Given the description of an element on the screen output the (x, y) to click on. 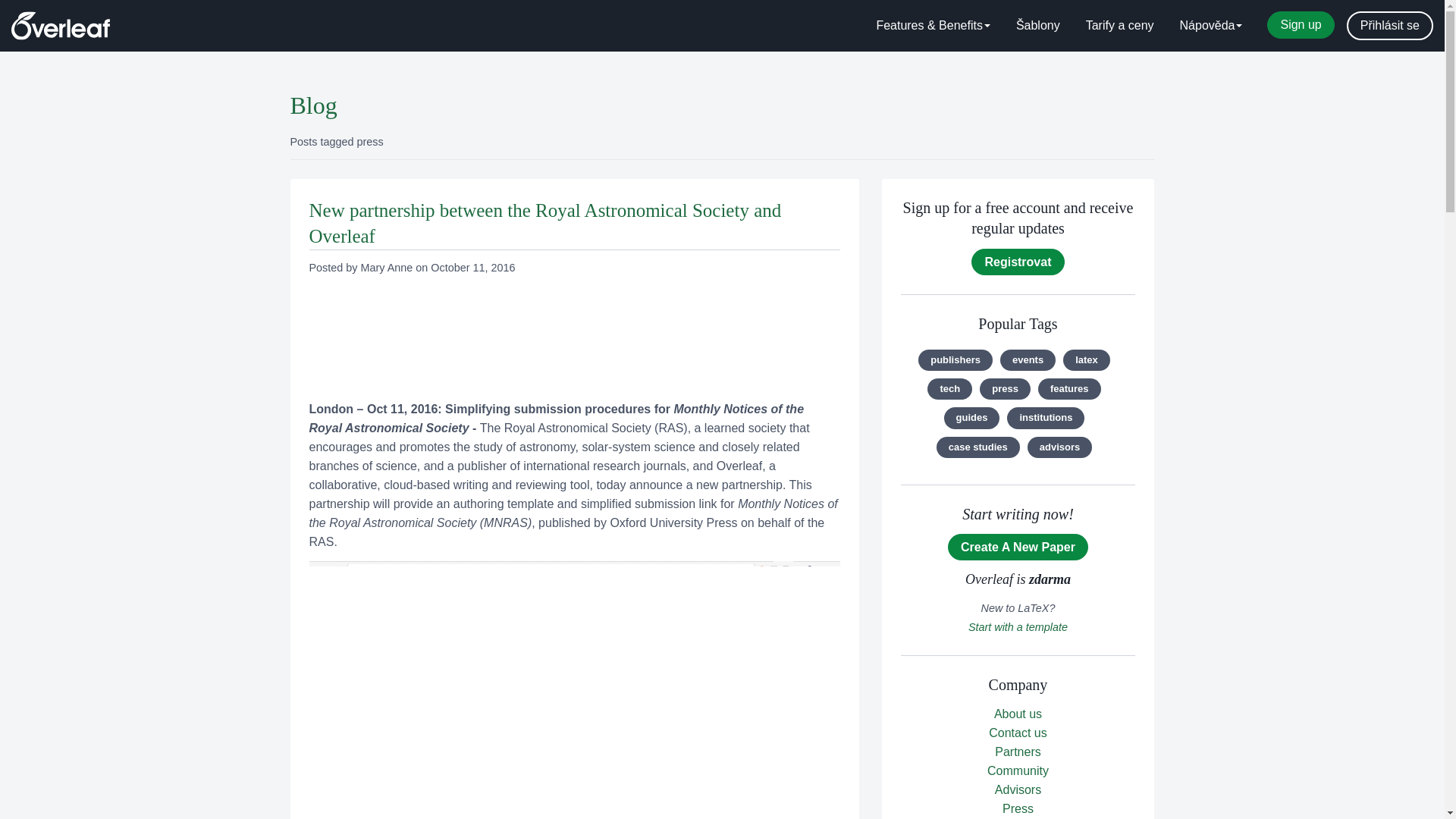
Blog (312, 104)
Sign up (1299, 24)
Tarify a ceny (1120, 25)
